Given the description of an element on the screen output the (x, y) to click on. 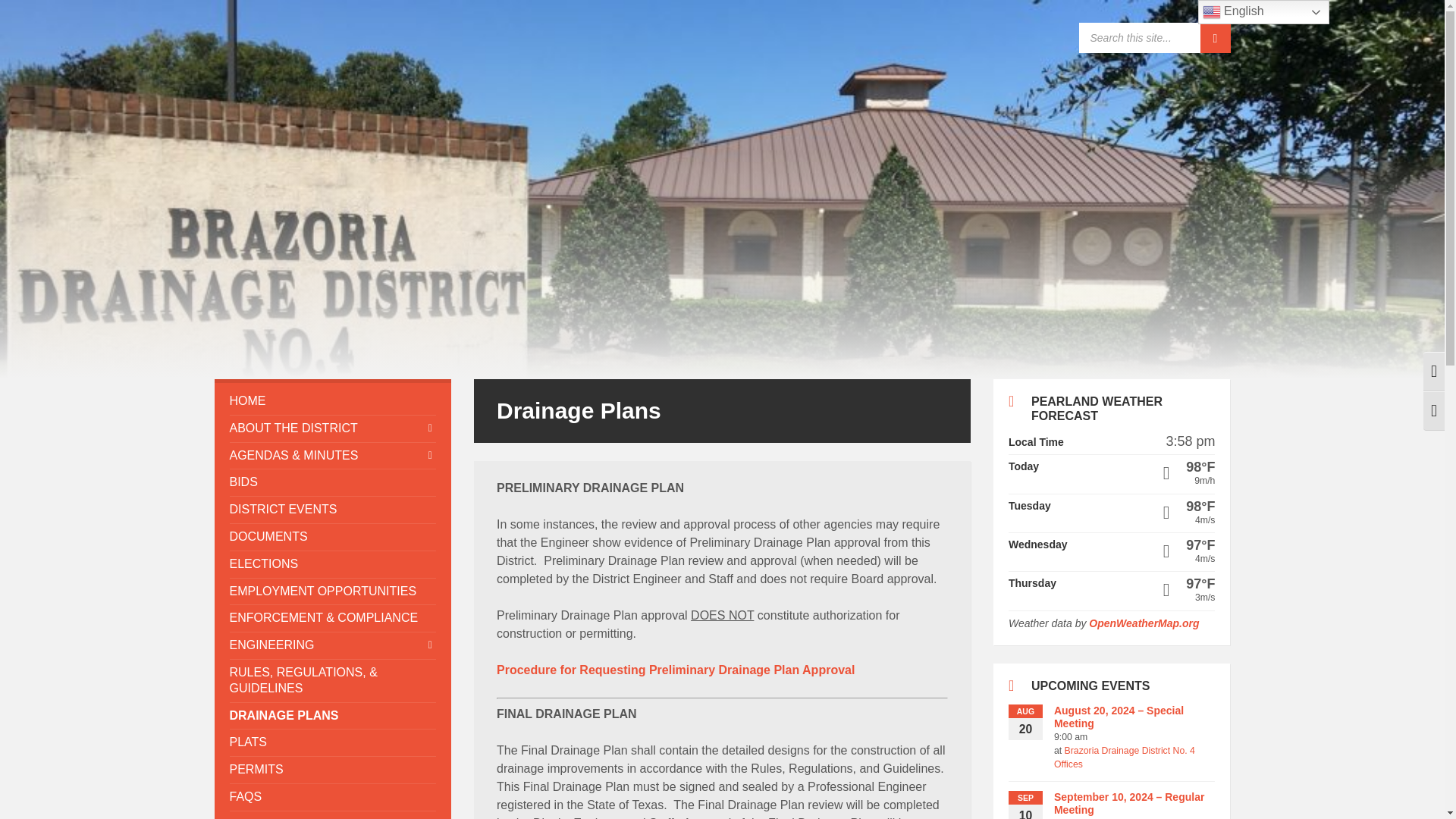
Wind speed (1163, 597)
Wind speed (1163, 480)
Temperature (1163, 506)
Wind speed (1163, 520)
Temperature (1163, 583)
Temperature (1163, 467)
Temperature (1163, 545)
Wind speed (1163, 558)
